Given the description of an element on the screen output the (x, y) to click on. 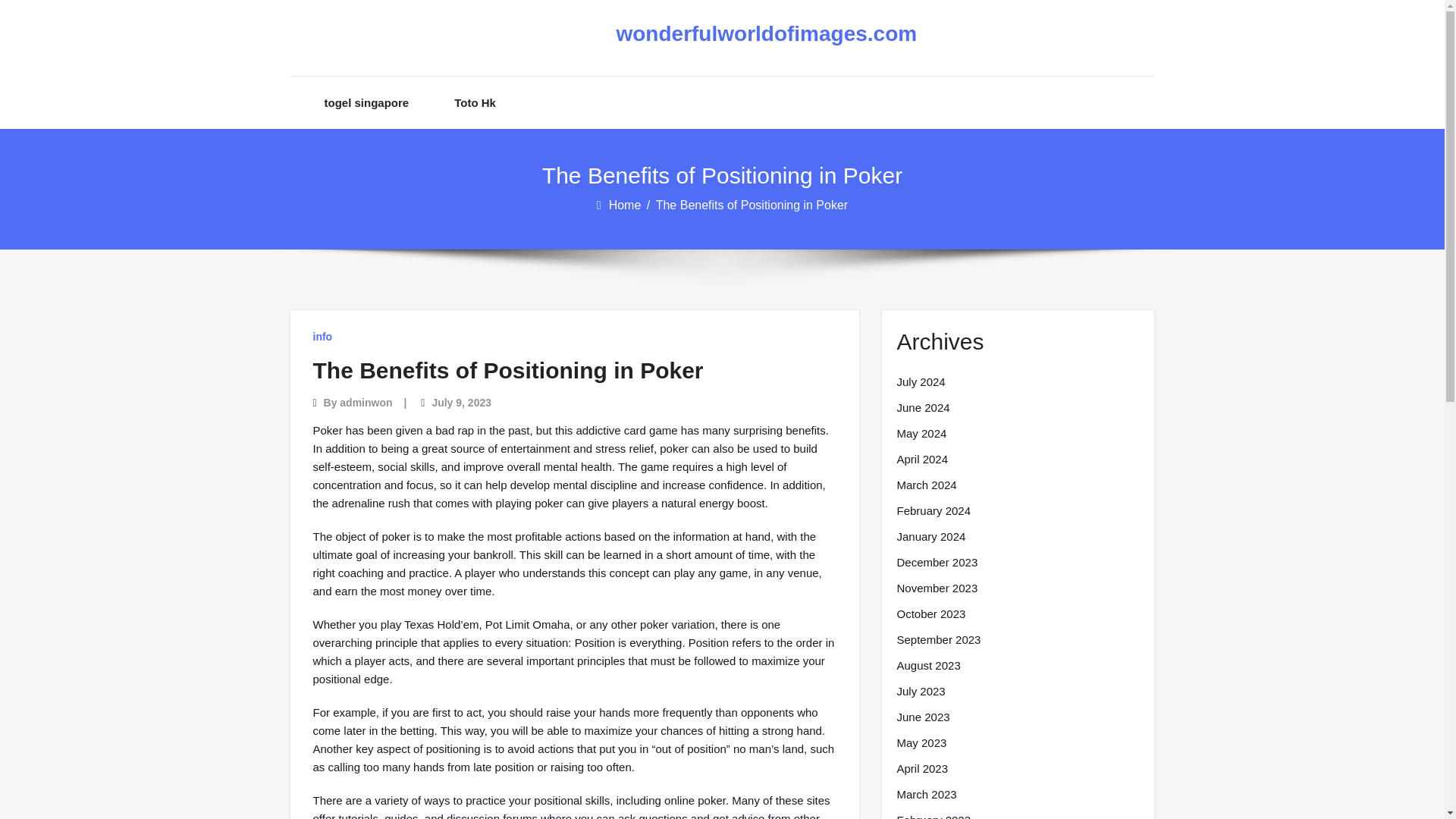
Toto Hk (475, 102)
January 2024 (930, 536)
Home (625, 205)
April 2023 (921, 769)
May 2023 (921, 742)
adminwon (365, 402)
November 2023 (936, 588)
July 2023 (920, 691)
July 9, 2023 (461, 402)
May 2024 (921, 434)
December 2023 (936, 562)
August 2023 (927, 665)
June 2023 (922, 717)
February 2023 (933, 815)
togel singapore (366, 102)
